Given the description of an element on the screen output the (x, y) to click on. 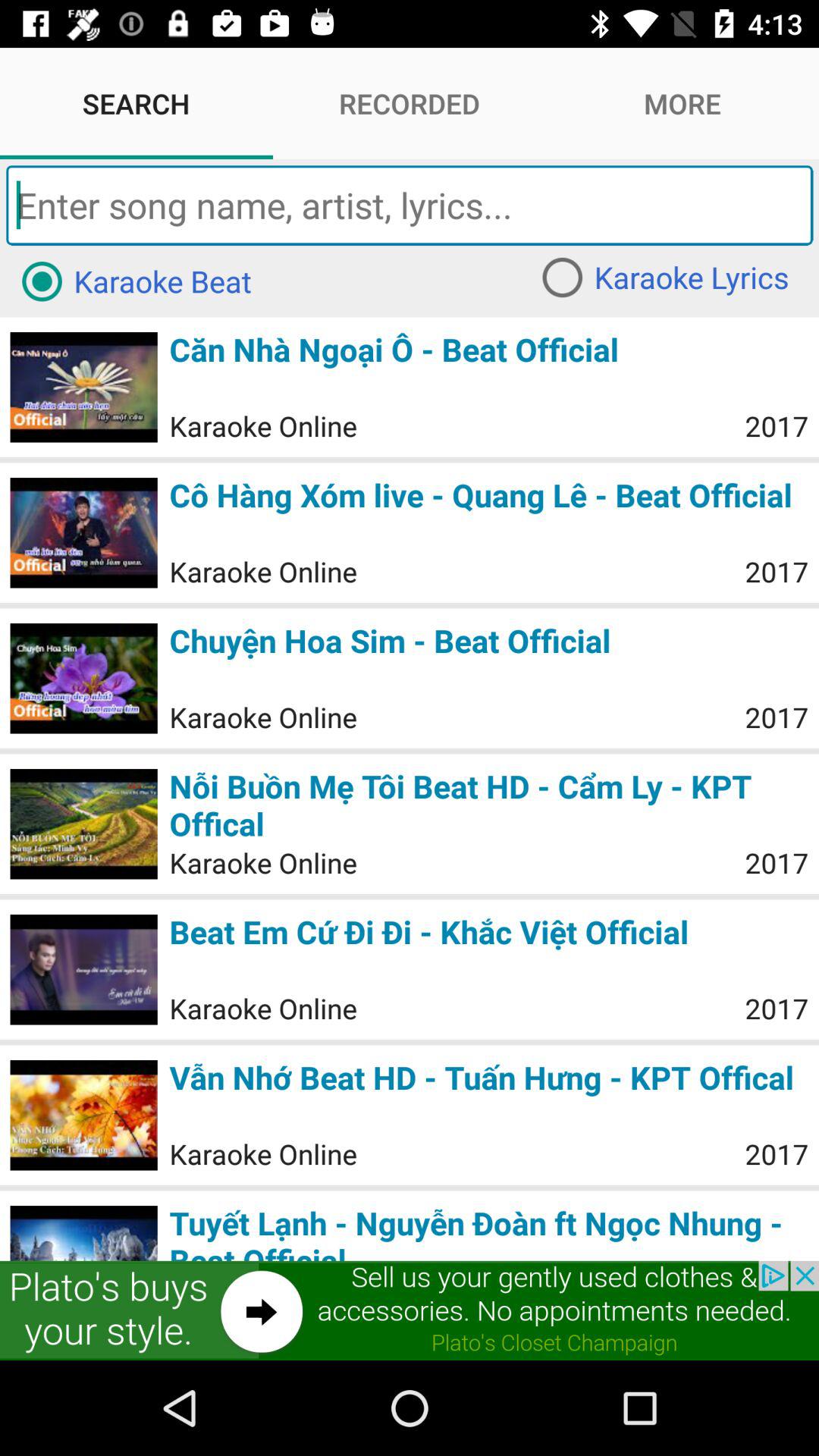
view the adversitement (409, 1310)
